Given the description of an element on the screen output the (x, y) to click on. 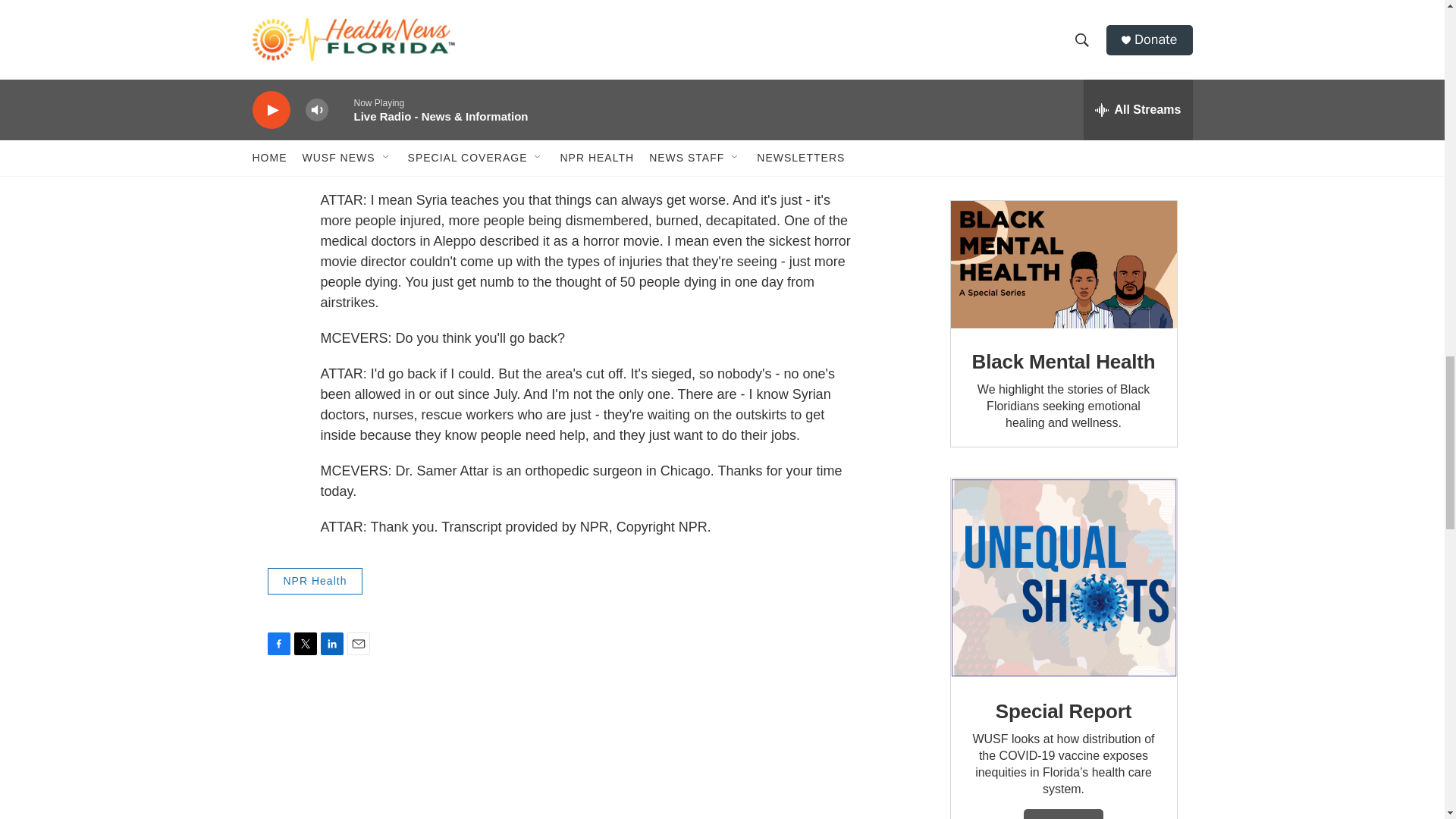
3rd party ad content (1062, 84)
